Given the description of an element on the screen output the (x, y) to click on. 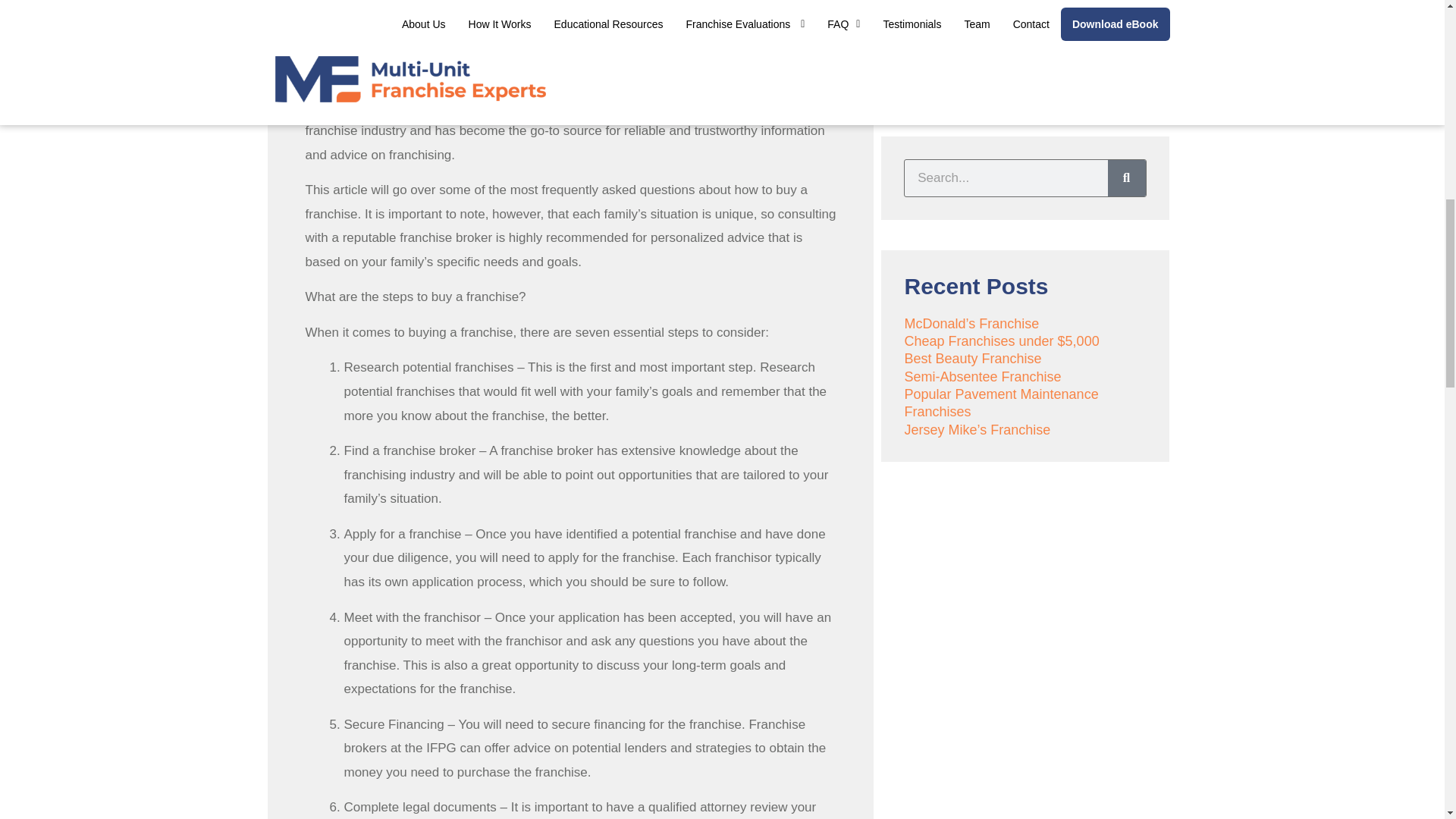
Request Evaluation (1024, 41)
